Given the description of an element on the screen output the (x, y) to click on. 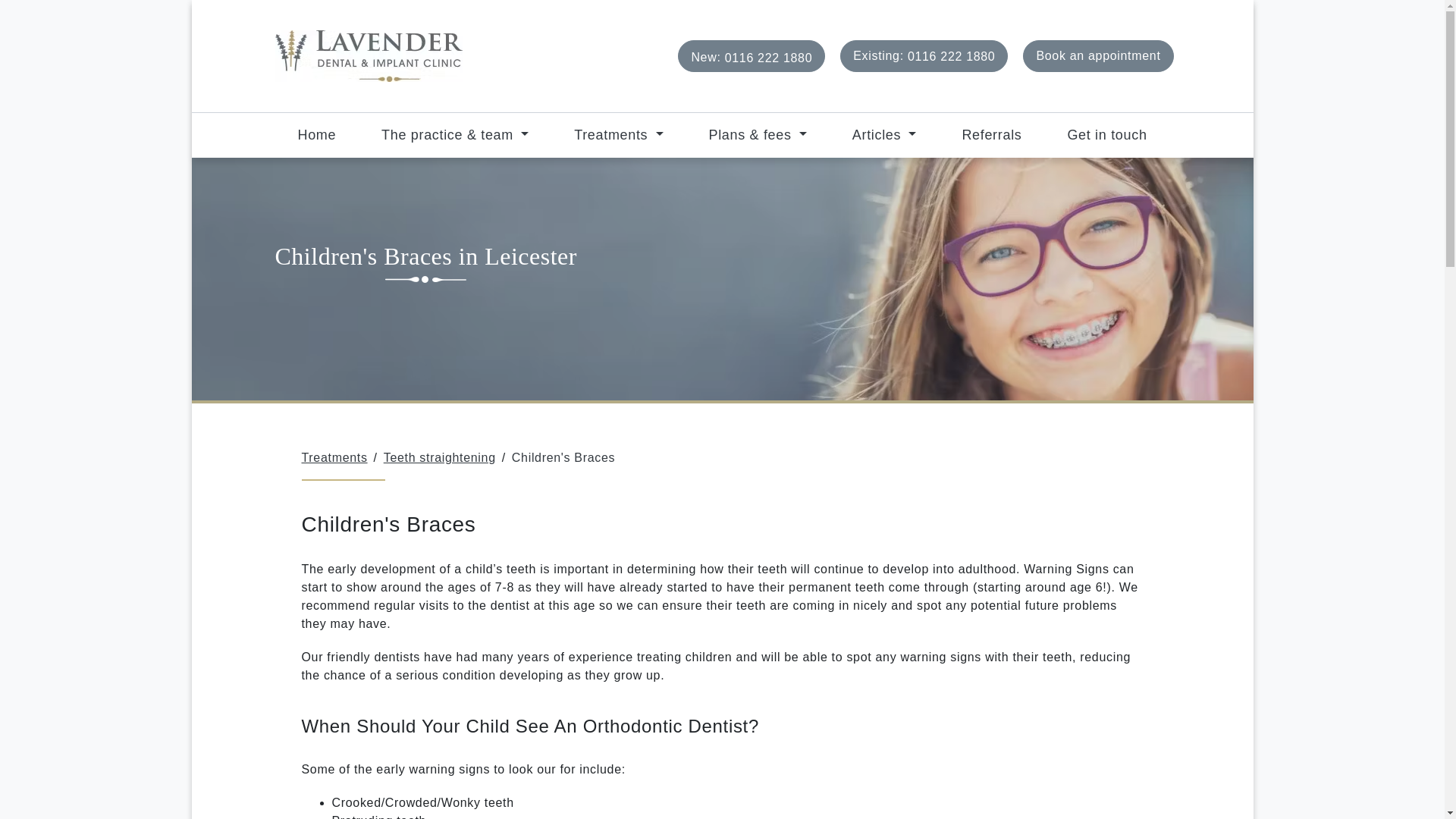
Home (923, 56)
Treatments (316, 133)
New: 0116 222 1880 (618, 133)
